Given the description of an element on the screen output the (x, y) to click on. 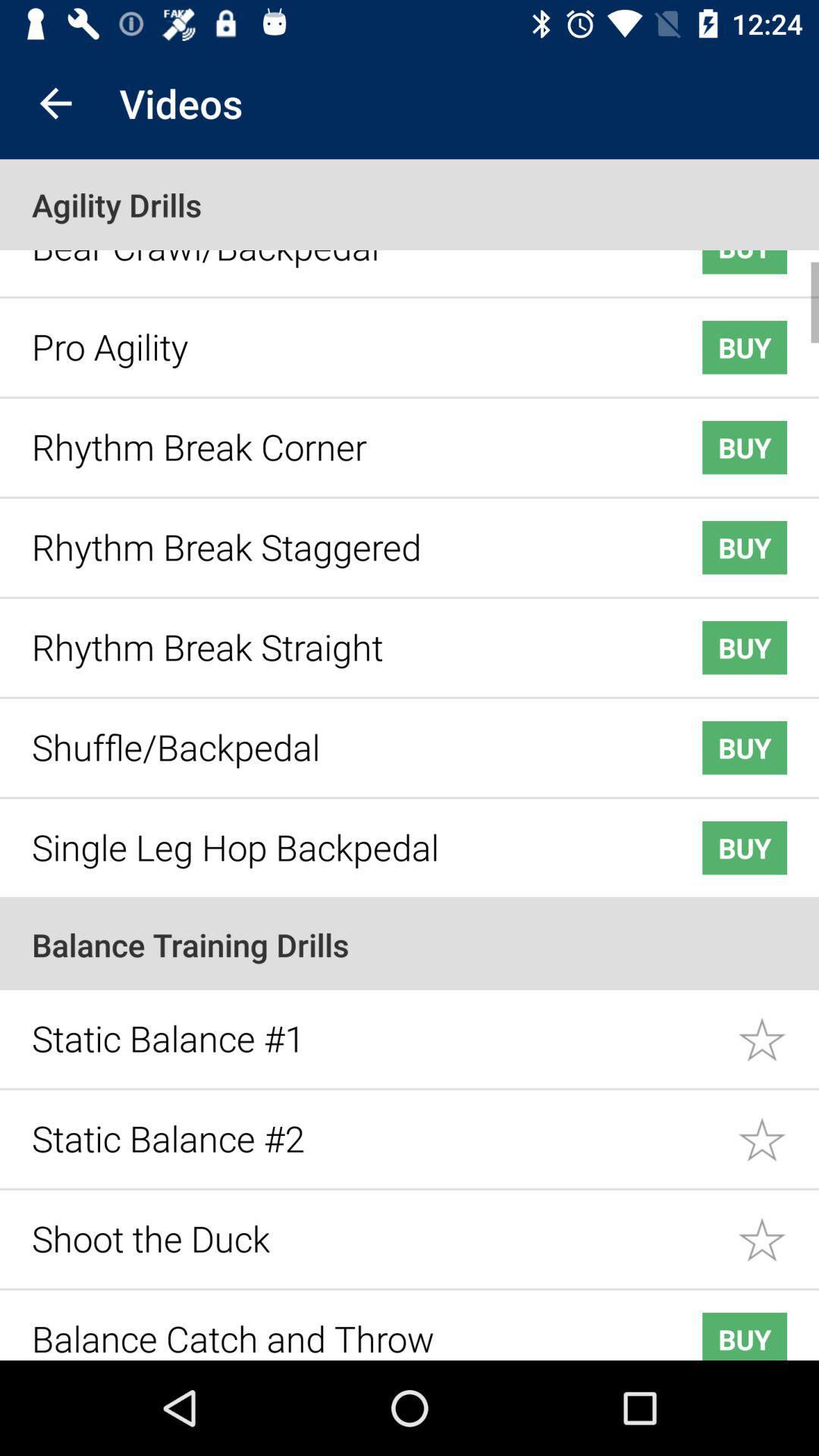
scroll to the balance catch and item (342, 1327)
